Given the description of an element on the screen output the (x, y) to click on. 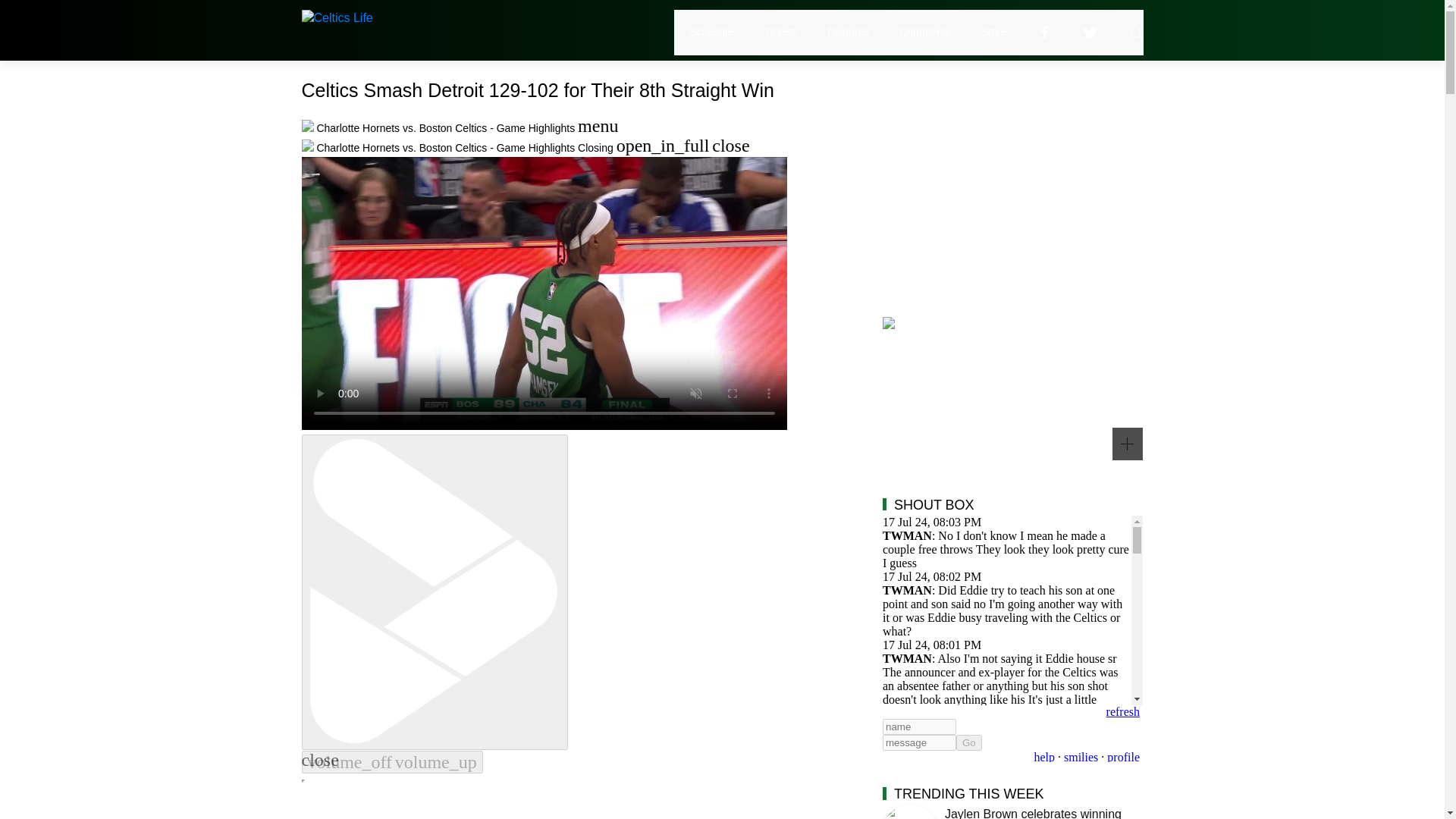
Store (993, 32)
Features (848, 32)
Search (1135, 32)
Tickets (779, 32)
Comments (924, 32)
Schedule (710, 32)
Advertisement (1012, 184)
